Given the description of an element on the screen output the (x, y) to click on. 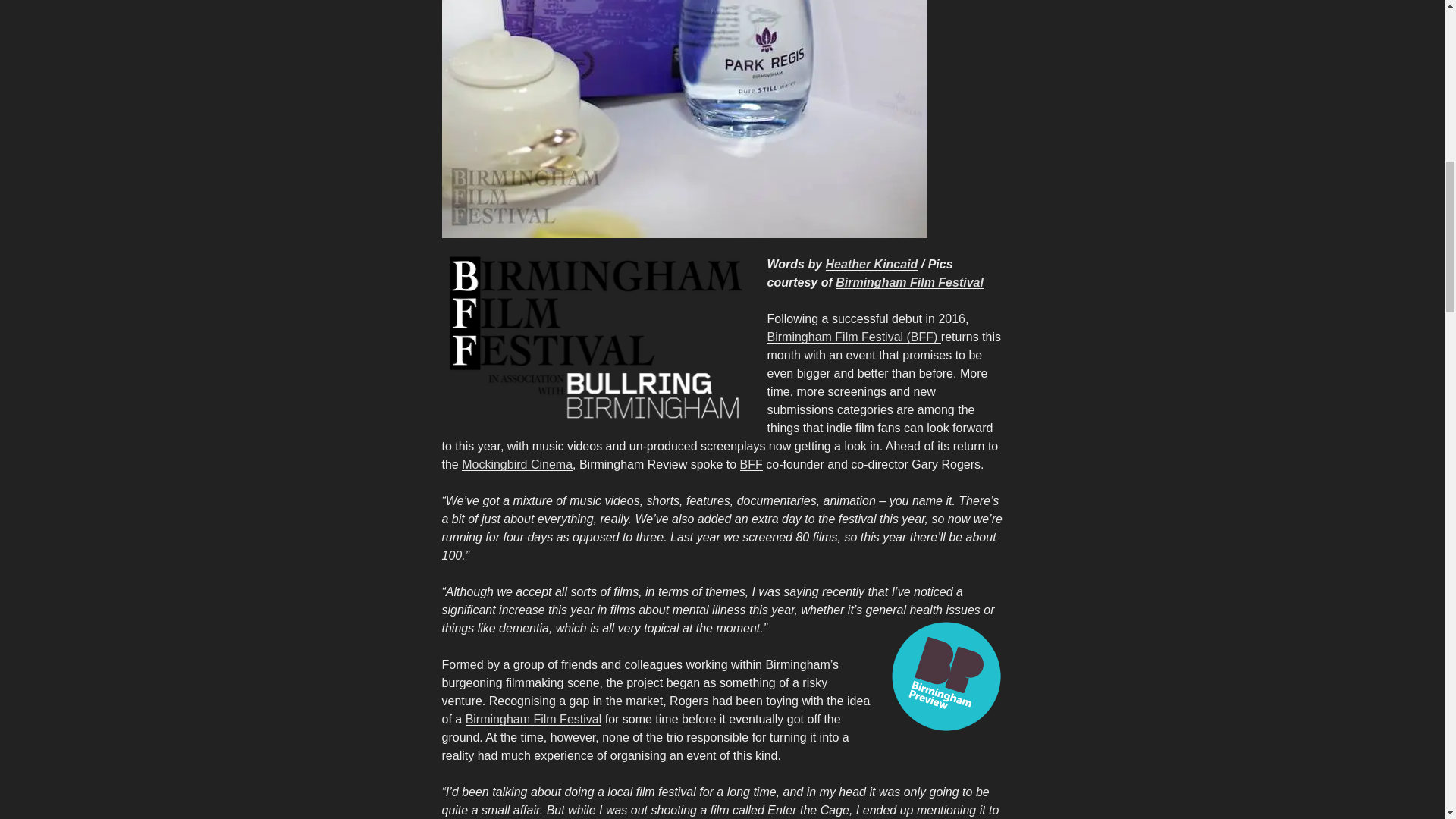
Birmingham Film Festival (533, 718)
BFF (750, 463)
Heather Kincaid (871, 264)
Birmingham Film Festival (909, 282)
Mockingbird Cinema (516, 463)
